Given the description of an element on the screen output the (x, y) to click on. 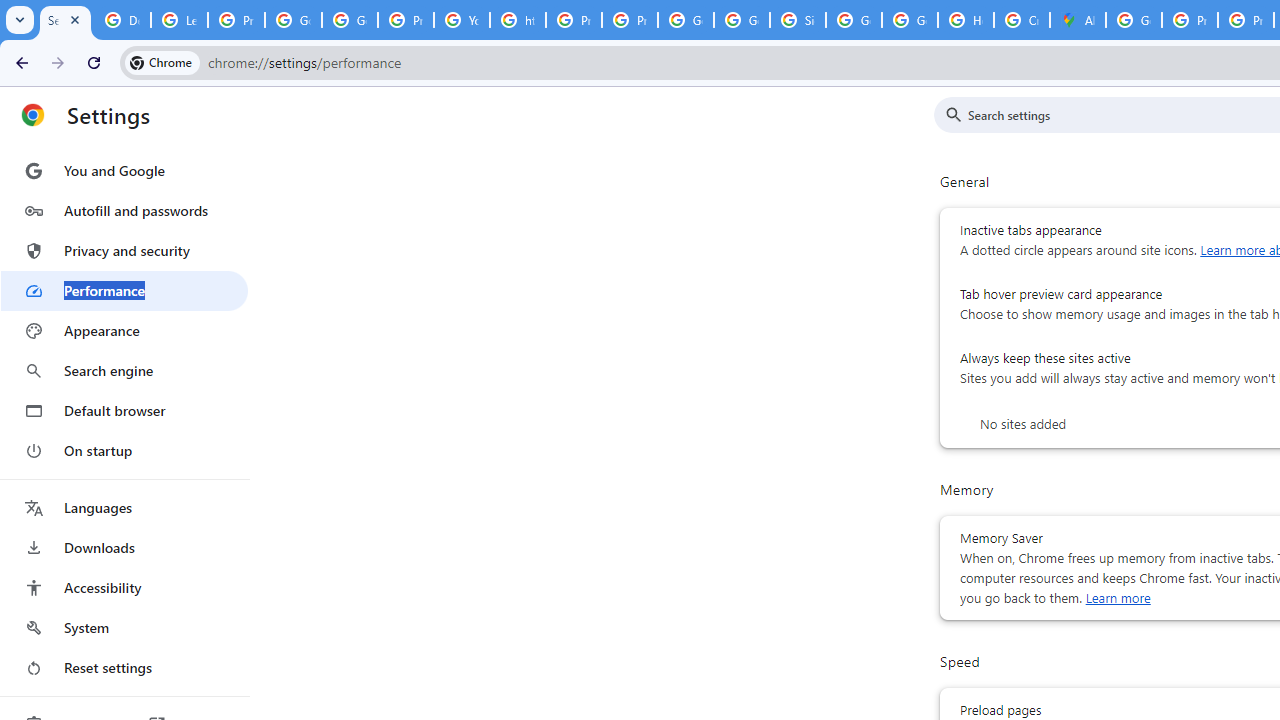
Search engine (124, 370)
Create your Google Account (1021, 20)
Accessibility (124, 587)
Privacy Help Center - Policies Help (1190, 20)
Settings - Performance (65, 20)
Default browser (124, 410)
